Given the description of an element on the screen output the (x, y) to click on. 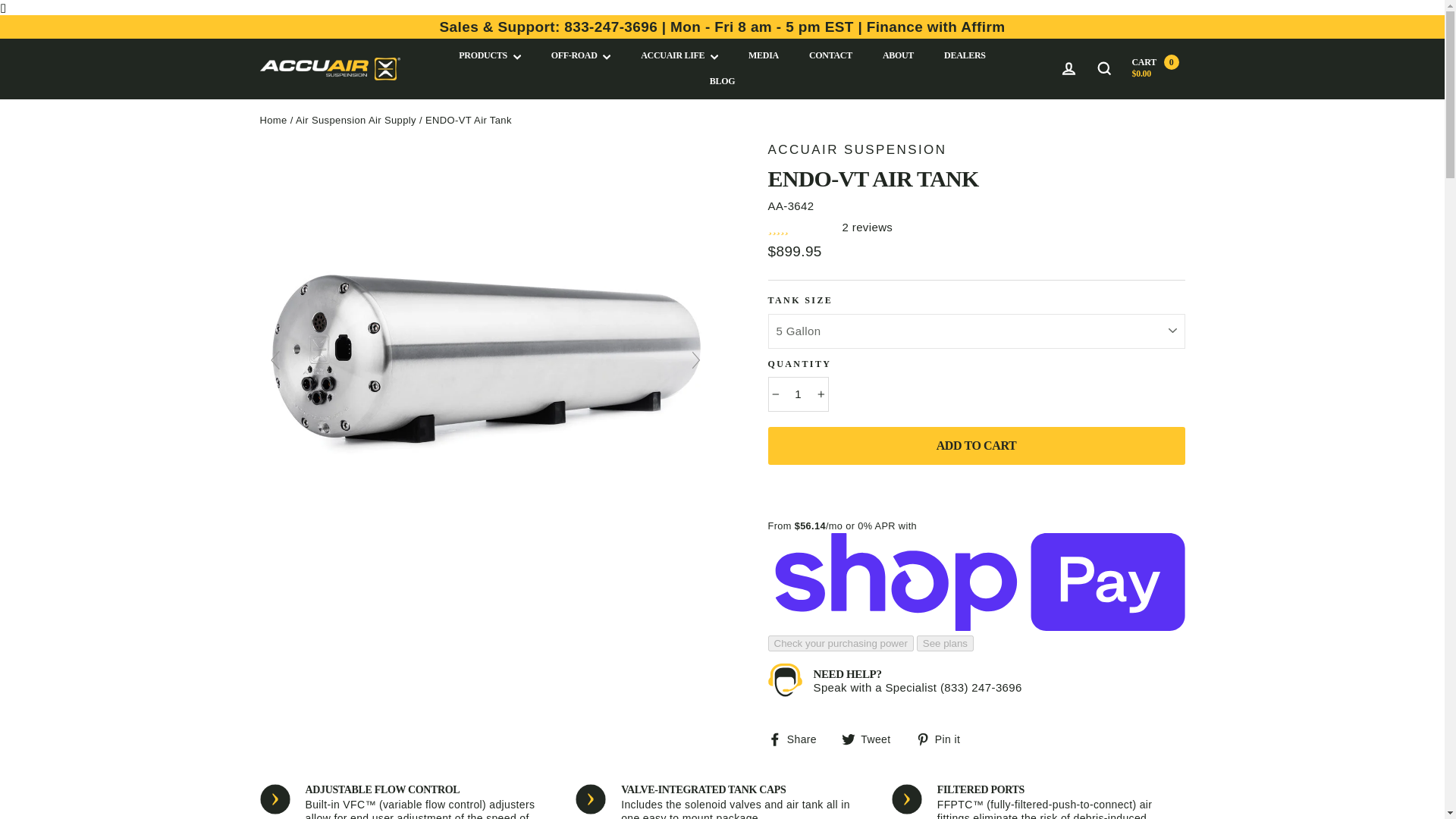
Share on Facebook (797, 738)
Tweet on Twitter (871, 738)
ENDO-VT Air Tank (484, 588)
Pin on Pinterest (943, 738)
AccuAir Suspension (856, 149)
Back to the frontpage (272, 119)
1 (797, 393)
